Given the description of an element on the screen output the (x, y) to click on. 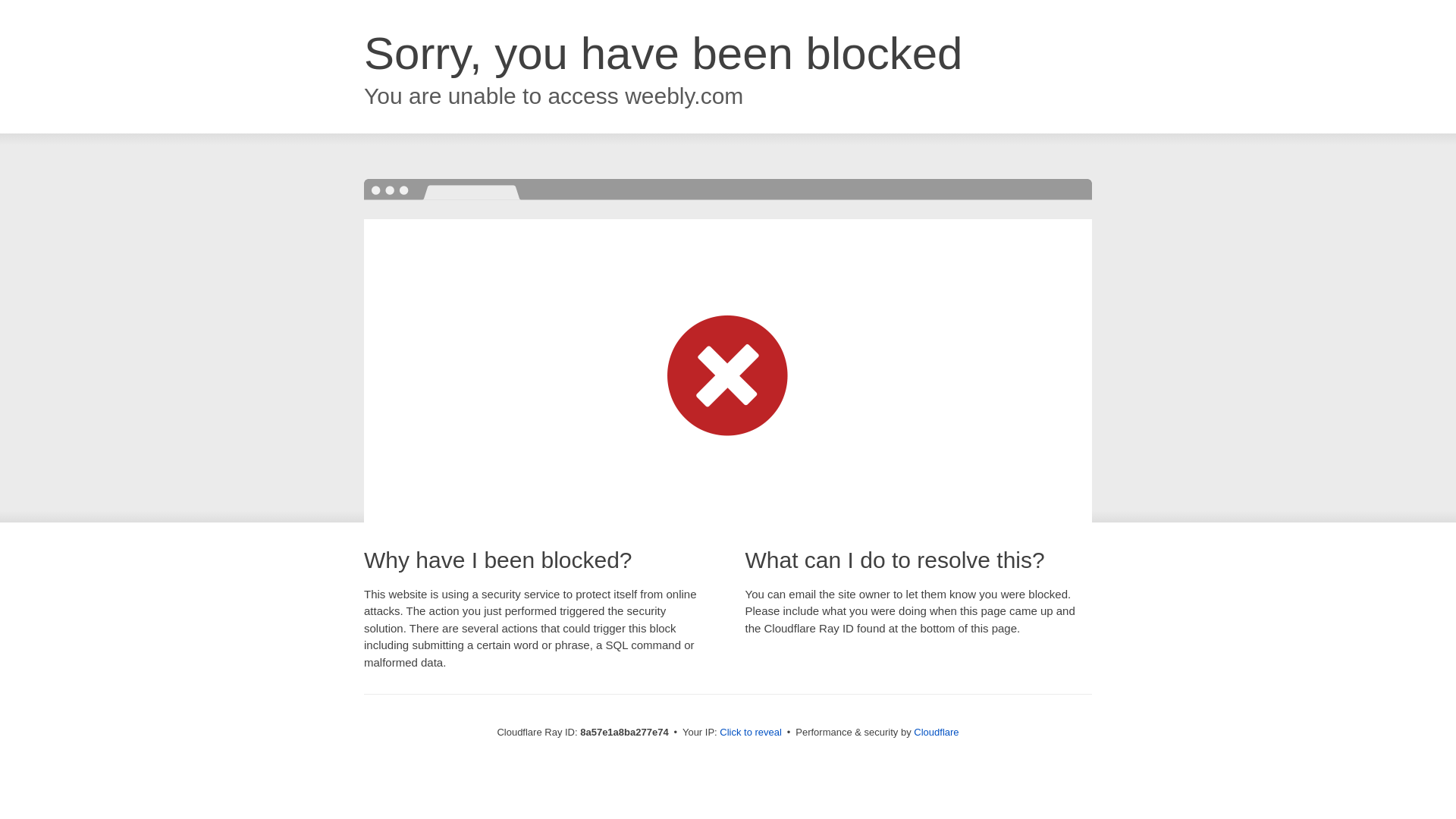
Cloudflare (936, 731)
Click to reveal (750, 732)
